Given the description of an element on the screen output the (x, y) to click on. 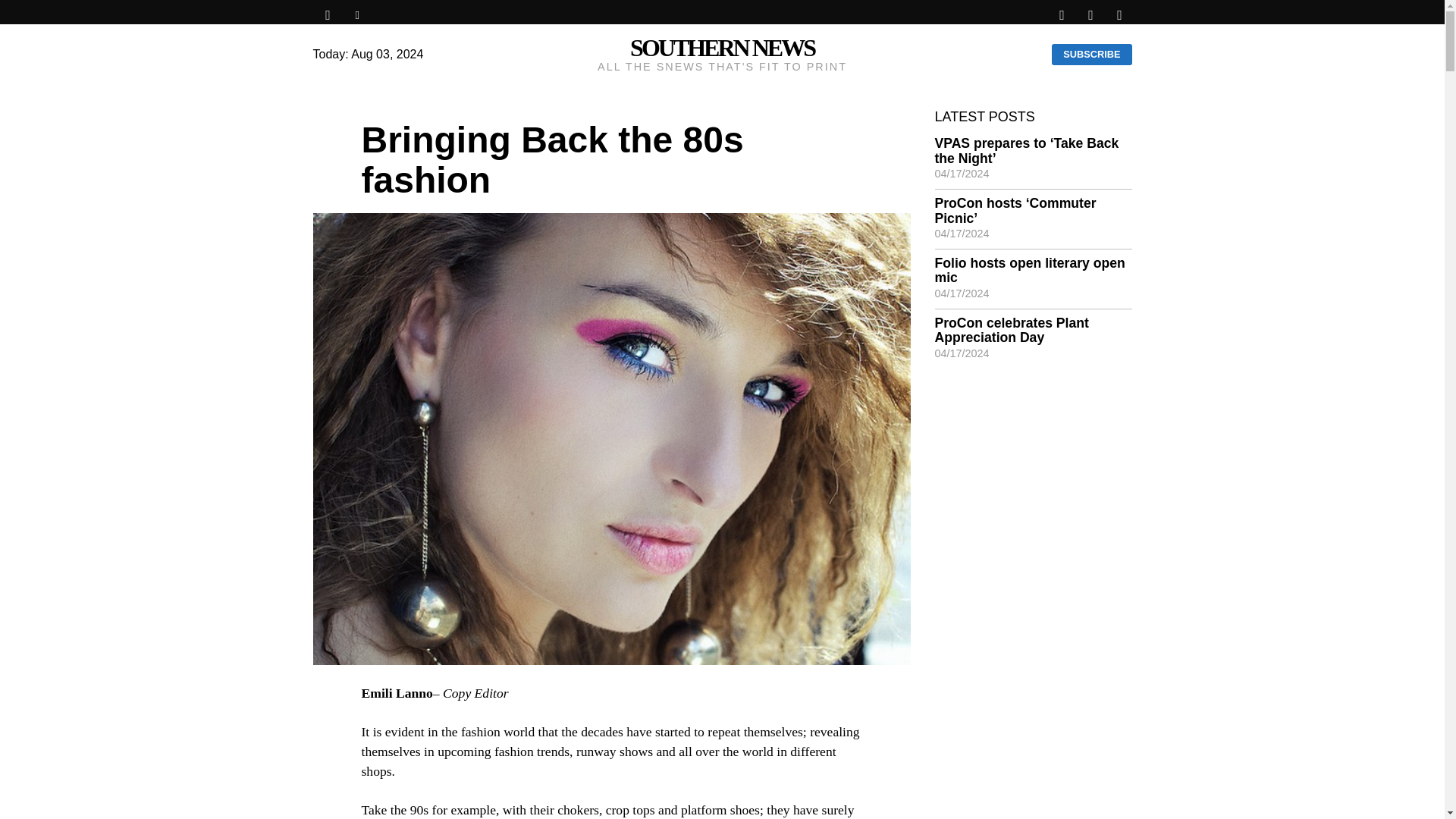
17 Apr, 2024 09:00:00 (961, 353)
Folio hosts open literary open mic (1032, 270)
17 Apr, 2024 09:00:00 (961, 293)
ProCon celebrates Plant Appreciation Day (1032, 330)
SUBSCRIBE (1091, 54)
17 Apr, 2024 09:00:00 (961, 233)
SOUTHERN NEWS (721, 48)
17 Apr, 2024 09:47:00 (961, 173)
